Given the description of an element on the screen output the (x, y) to click on. 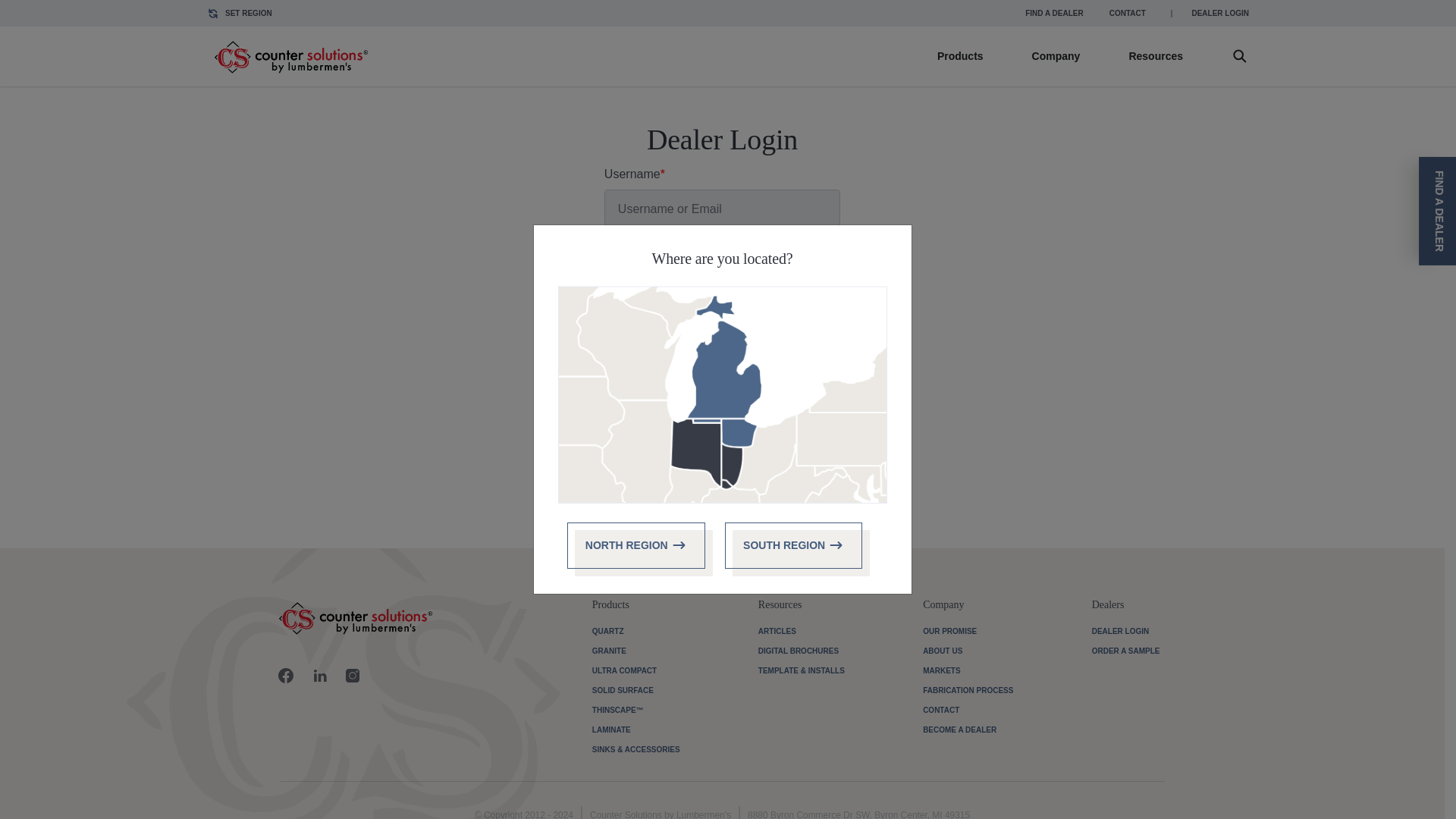
FIND A DEALER (1053, 13)
Connect with us on Facebook (285, 673)
CONTACT (1127, 13)
Company (1056, 56)
DEALER LOGIN (1220, 13)
Products (960, 56)
SET REGION (239, 13)
